Given the description of an element on the screen output the (x, y) to click on. 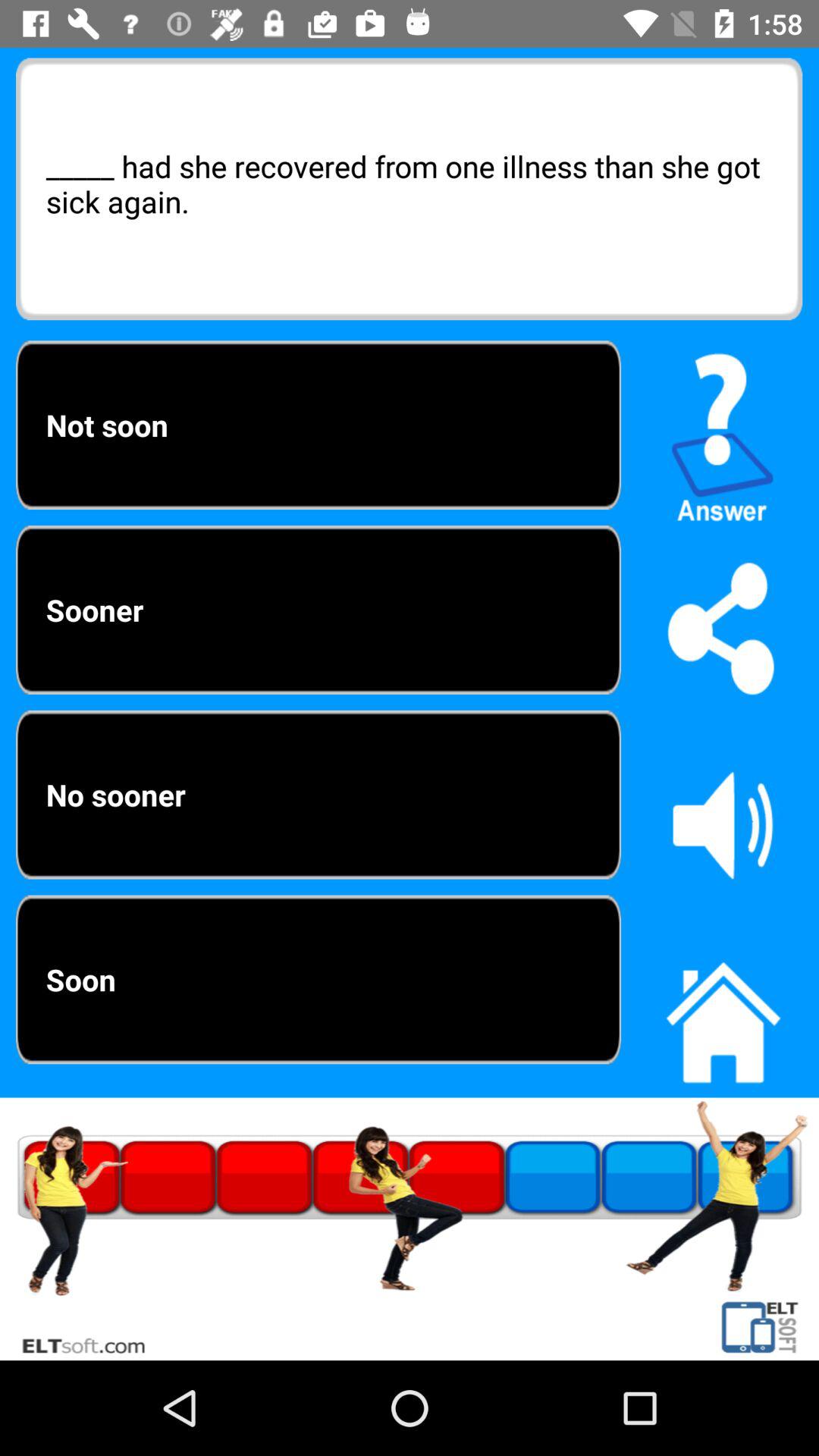
jump to the not soon icon (318, 424)
